Given the description of an element on the screen output the (x, y) to click on. 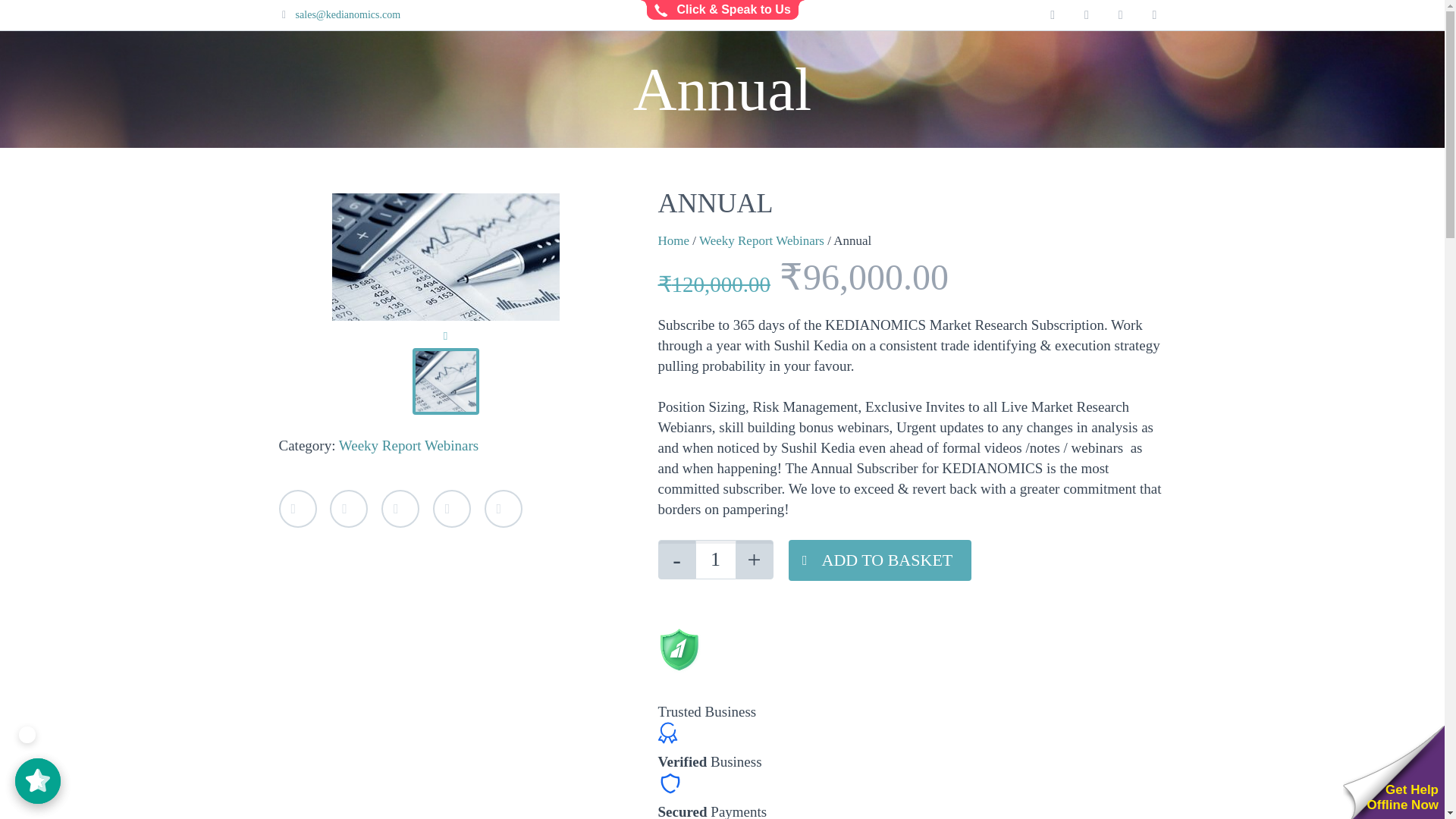
LinkedIn (451, 508)
Home (674, 240)
Facebook (349, 508)
linkedin (1120, 15)
facebook (1086, 15)
Twitter (298, 508)
stumbleupon (1154, 15)
twitter (1052, 15)
LinkedIn (451, 508)
StumbleUpon (502, 508)
ADD TO BASKET (880, 559)
facebook (1086, 15)
twitter (1052, 15)
Weeky Report Webinars (409, 445)
1 (715, 559)
